Given the description of an element on the screen output the (x, y) to click on. 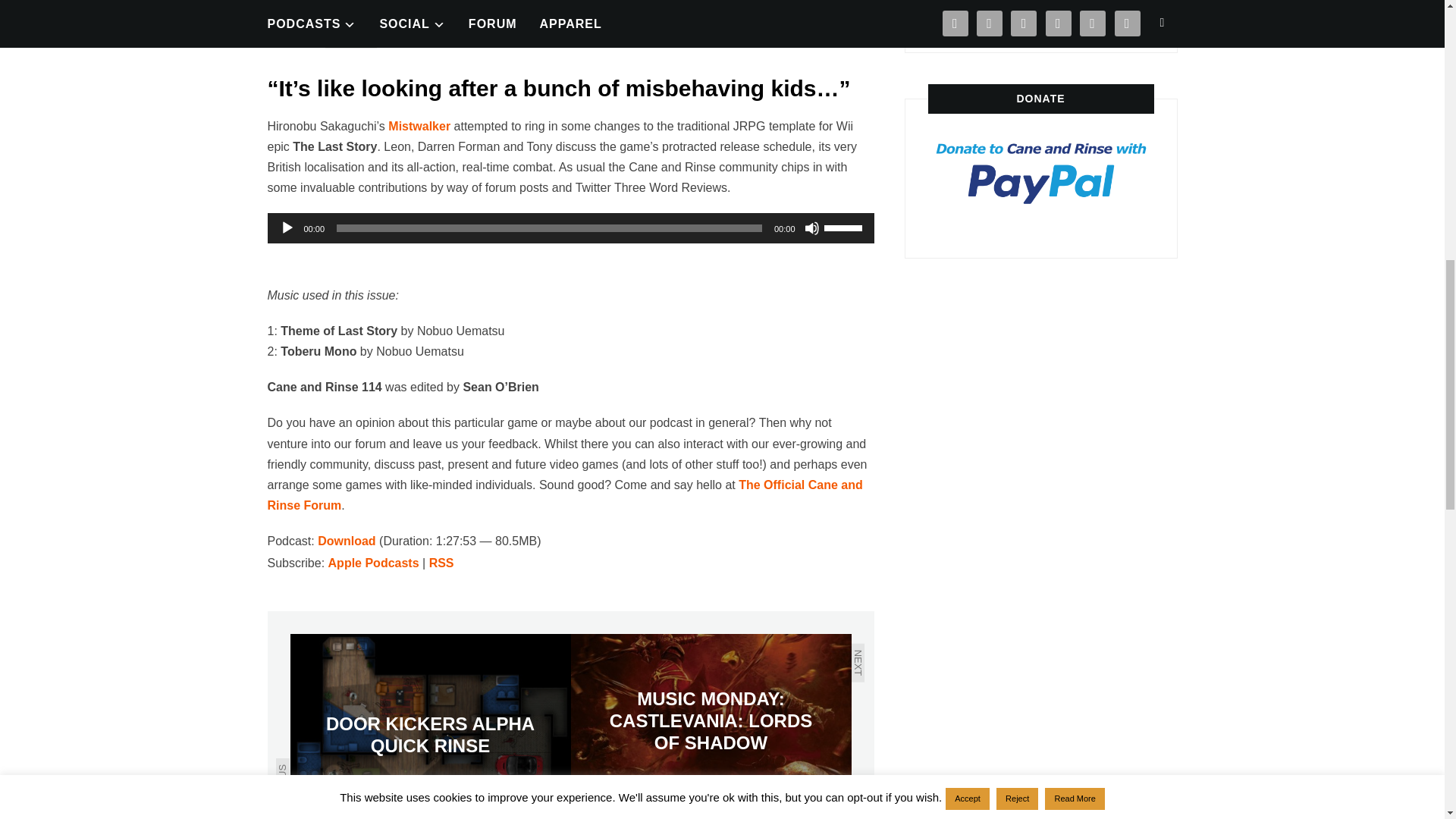
Door Kickers alpha Quick Rinse (429, 726)
Mute (810, 227)
Subscribe via RSS (441, 562)
Music Monday: Castlevania: Lords of Shadow (710, 721)
Subscribe on Apple Podcasts (374, 562)
Play (286, 227)
Download (346, 540)
Posts by Leon Cox (350, 40)
